Given the description of an element on the screen output the (x, y) to click on. 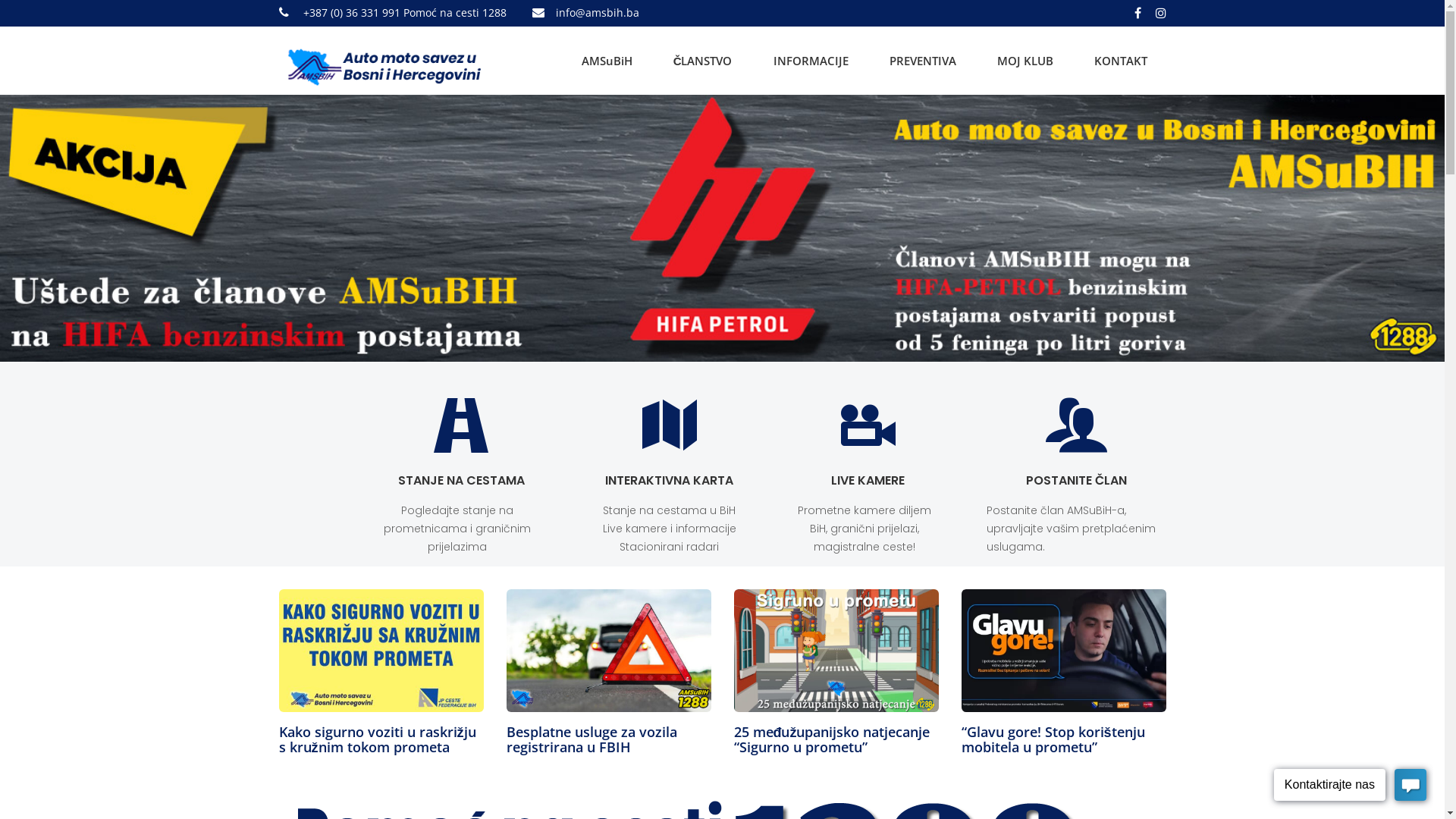
AMSuBiH Element type: text (606, 60)
MOJ KLUB Element type: text (1024, 60)
Besplatne usluge za vozila registrirana u FBIH Element type: text (591, 739)
INFORMACIJE Element type: text (810, 60)
Pure Chat Live Chat Element type: hover (1349, 786)
KONTAKT Element type: text (1119, 60)
INTERAKTIVNA KARTA Element type: text (669, 480)
info@amsbih.ba Element type: text (596, 12)
STANJE NA CESTAMA Element type: text (460, 480)
PREVENTIVA Element type: text (921, 60)
LIVE KAMERE Element type: text (867, 480)
